Given the description of an element on the screen output the (x, y) to click on. 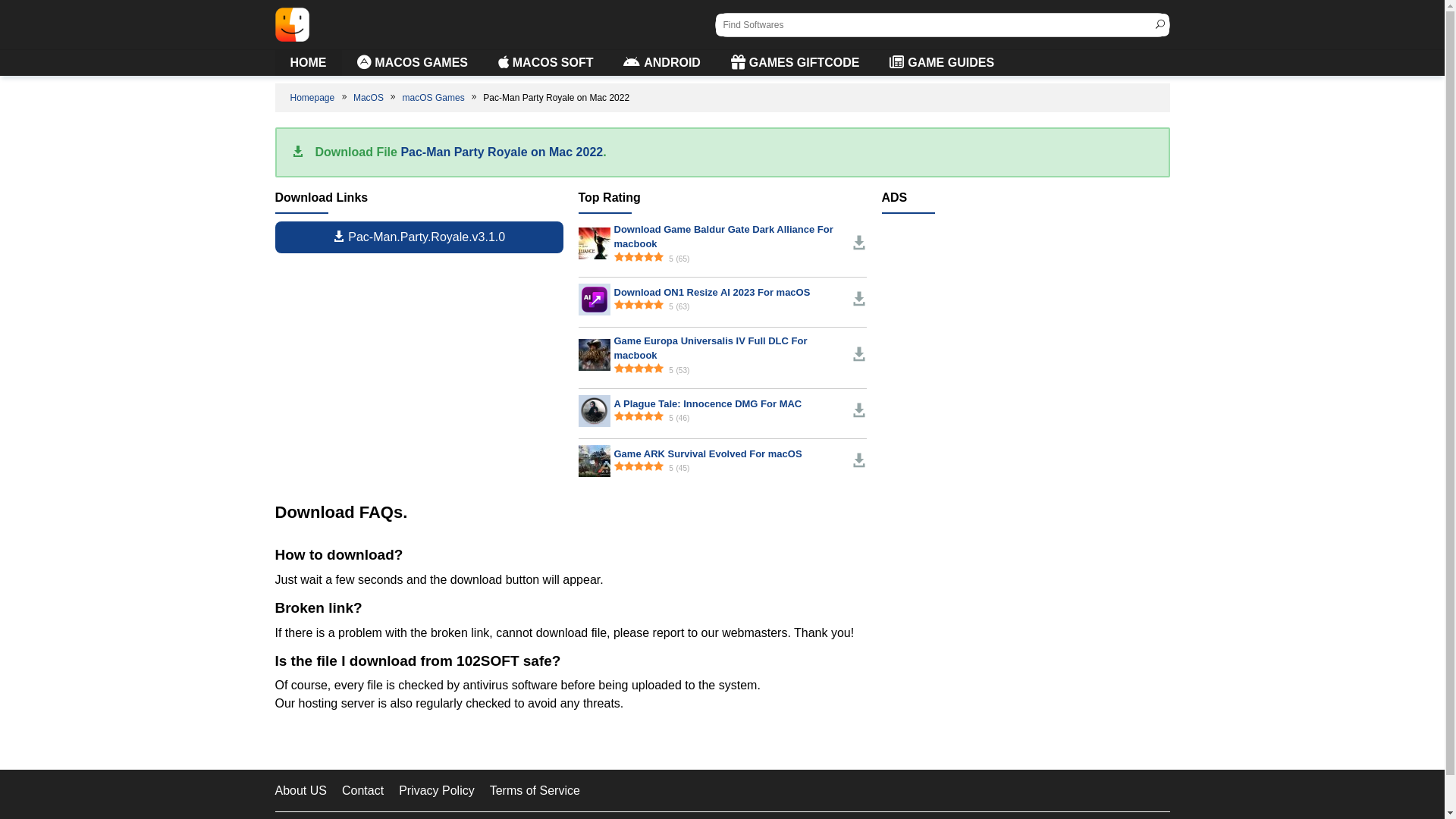
GAMES GIFTCODE Element type: text (795, 62)
Download Download ON1 Resize AI 2023 For macOS Element type: hover (593, 297)
Download A Plague Tale: Innocence DMG For MAC Element type: hover (858, 410)
A Plague Tale: Innocence DMG For MAC Element type: text (708, 403)
ANDROID Element type: text (661, 62)
Download Download ON1 Resize AI 2023 For macOS Element type: hover (858, 299)
Download Game ARK Survival Evolved For macOS Element type: hover (858, 460)
Download ON1 Resize AI 2023 For macOS Element type: text (712, 292)
Download A Plague Tale: Innocence DMG For MAC Element type: hover (593, 409)
MacOS Element type: text (369, 97)
ON1 Resize AI 2023 - Image enlargement software without loss Element type: hover (593, 299)
Pac-Man Party Royale on Mac 2022 Element type: text (501, 151)
102Soft Element type: hover (291, 24)
102Soft Element type: hover (291, 23)
Terms of Service Element type: text (534, 790)
Download Game Baldur Gate Dark Alliance For macbook Element type: text (723, 236)
Contact Element type: text (362, 790)
MACOS SOFT Element type: text (545, 62)
GAME GUIDES Element type: text (941, 62)
Game Baldur Gate Dark Alliance For macbook Element type: hover (593, 243)
Privacy Policy Element type: text (436, 790)
Game Europa Universalis IV Full DLC For macbook Element type: hover (593, 354)
Game Europa Universalis IV Full DLC For macbook Element type: text (710, 348)
Download Download Game Baldur Gate Dark Alliance For macbook Element type: hover (858, 243)
Download Game ARK Survival Evolved For macOS Element type: hover (593, 459)
HOME Element type: text (307, 62)
macOS Games Element type: text (434, 97)
Download Download Game Baldur Gate Dark Alliance For macbook Element type: hover (593, 241)
Pac-Man.Party.Royale.v3.1.0 Element type: text (418, 237)
Game ARK Survival Evolved For macOS Element type: text (708, 453)
Download Game Europa Universalis IV Full DLC For macbook Element type: hover (593, 353)
MACOS GAMES Element type: text (411, 62)
Homepage Element type: text (312, 97)
Download Game Europa Universalis IV Full DLC For macbook Element type: hover (858, 354)
A Plague Tale: Innocence DMG For MAC Element type: hover (593, 410)
About US Element type: text (300, 790)
